Given the description of an element on the screen output the (x, y) to click on. 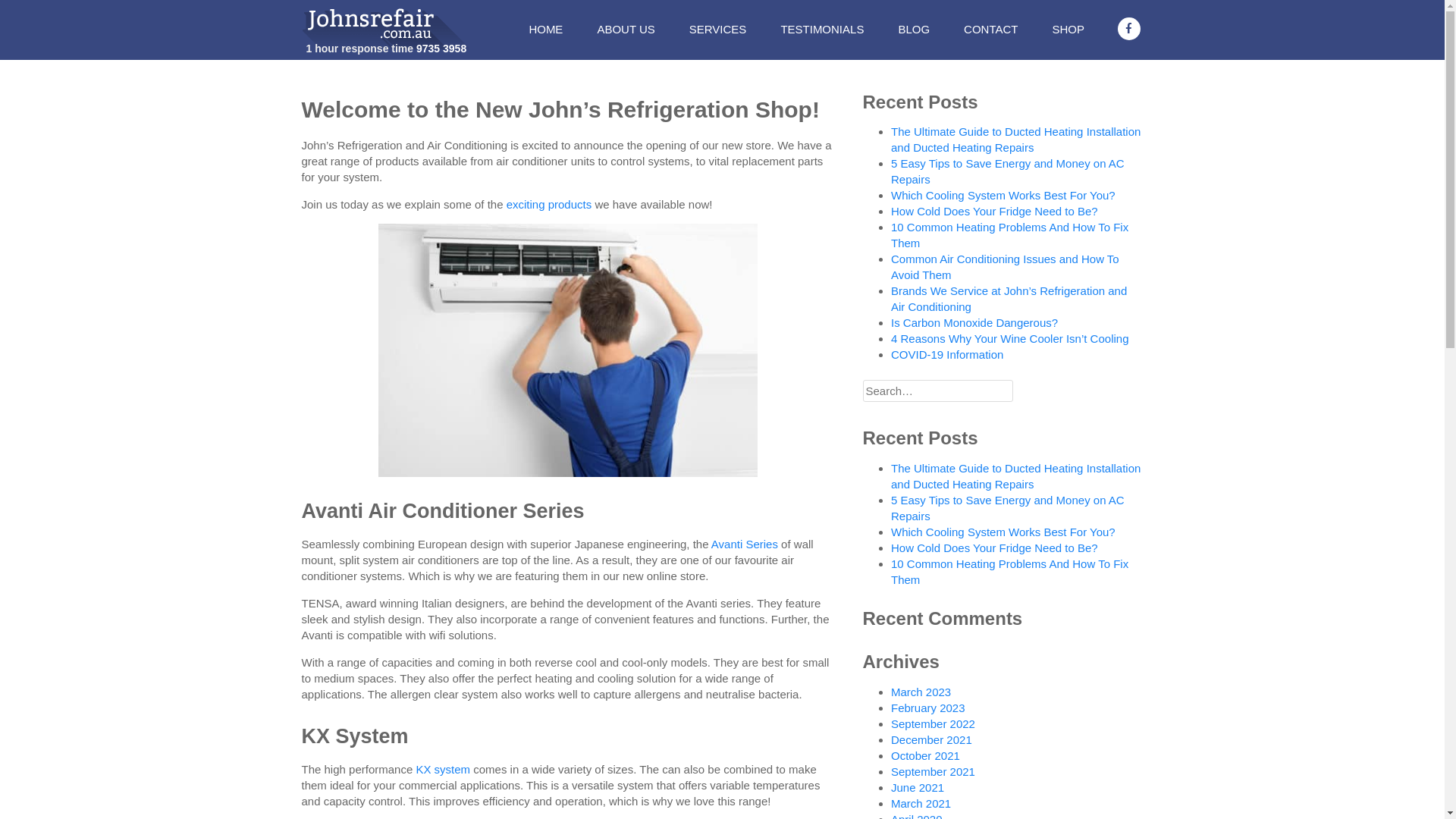
October 2021 Element type: text (925, 755)
December 2021 Element type: text (931, 739)
February 2023 Element type: text (928, 707)
ABOUT US Element type: text (625, 29)
Common Air Conditioning Issues and How To Avoid Them Element type: text (1005, 266)
September 2022 Element type: text (933, 723)
SERVICES Element type: text (718, 29)
10 Common Heating Problems And How To Fix Them Element type: text (1009, 571)
BLOG Element type: text (913, 29)
March 2023 Element type: text (920, 691)
HOME Element type: text (545, 29)
How Cold Does Your Fridge Need to Be? Element type: text (994, 210)
KX system Element type: text (442, 768)
CONTACT Element type: text (990, 29)
5 Easy Tips to Save Energy and Money on AC Repairs Element type: text (1007, 170)
September 2021 Element type: text (933, 771)
Avanti Series Element type: text (744, 543)
Which Cooling System Works Best For You? Element type: text (1003, 531)
Search Element type: text (35, 13)
SHOP Element type: text (1067, 29)
TESTIMONIALS Element type: text (821, 29)
Which Cooling System Works Best For You? Element type: text (1003, 194)
COVID-19 Information Element type: text (947, 354)
June 2021 Element type: text (917, 787)
10 Common Heating Problems And How To Fix Them Element type: text (1009, 234)
How Cold Does Your Fridge Need to Be? Element type: text (994, 547)
March 2021 Element type: text (920, 803)
9735 3958 Element type: text (441, 48)
exciting products Element type: text (549, 203)
Is Carbon Monoxide Dangerous? Element type: text (974, 322)
5 Easy Tips to Save Energy and Money on AC Repairs Element type: text (1007, 507)
